Given the description of an element on the screen output the (x, y) to click on. 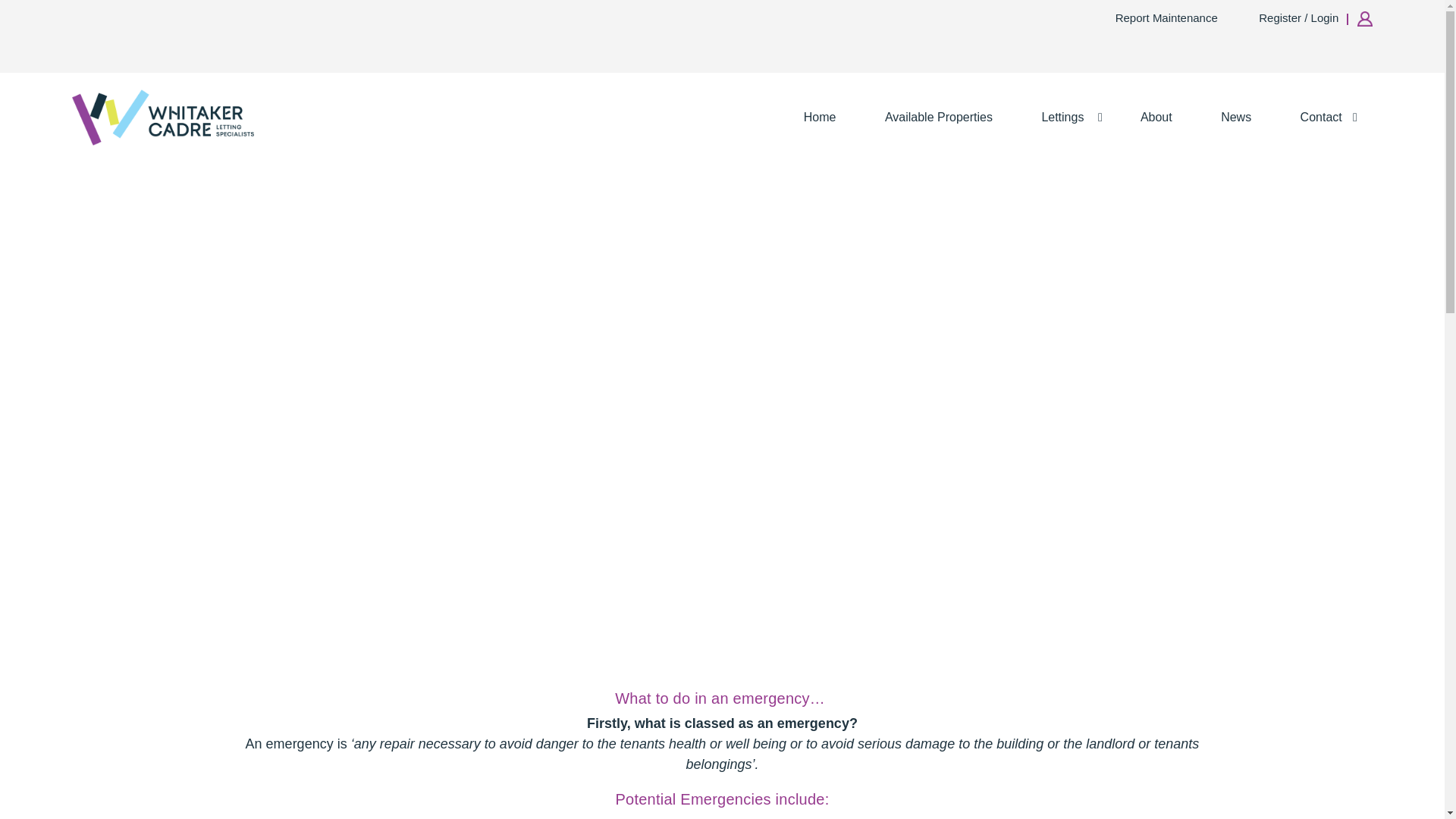
News (1236, 117)
About (1156, 117)
Report Maintenance (1174, 17)
Available Properties (937, 117)
Contact (1325, 117)
Lettings (1065, 117)
Home (819, 117)
